Given the description of an element on the screen output the (x, y) to click on. 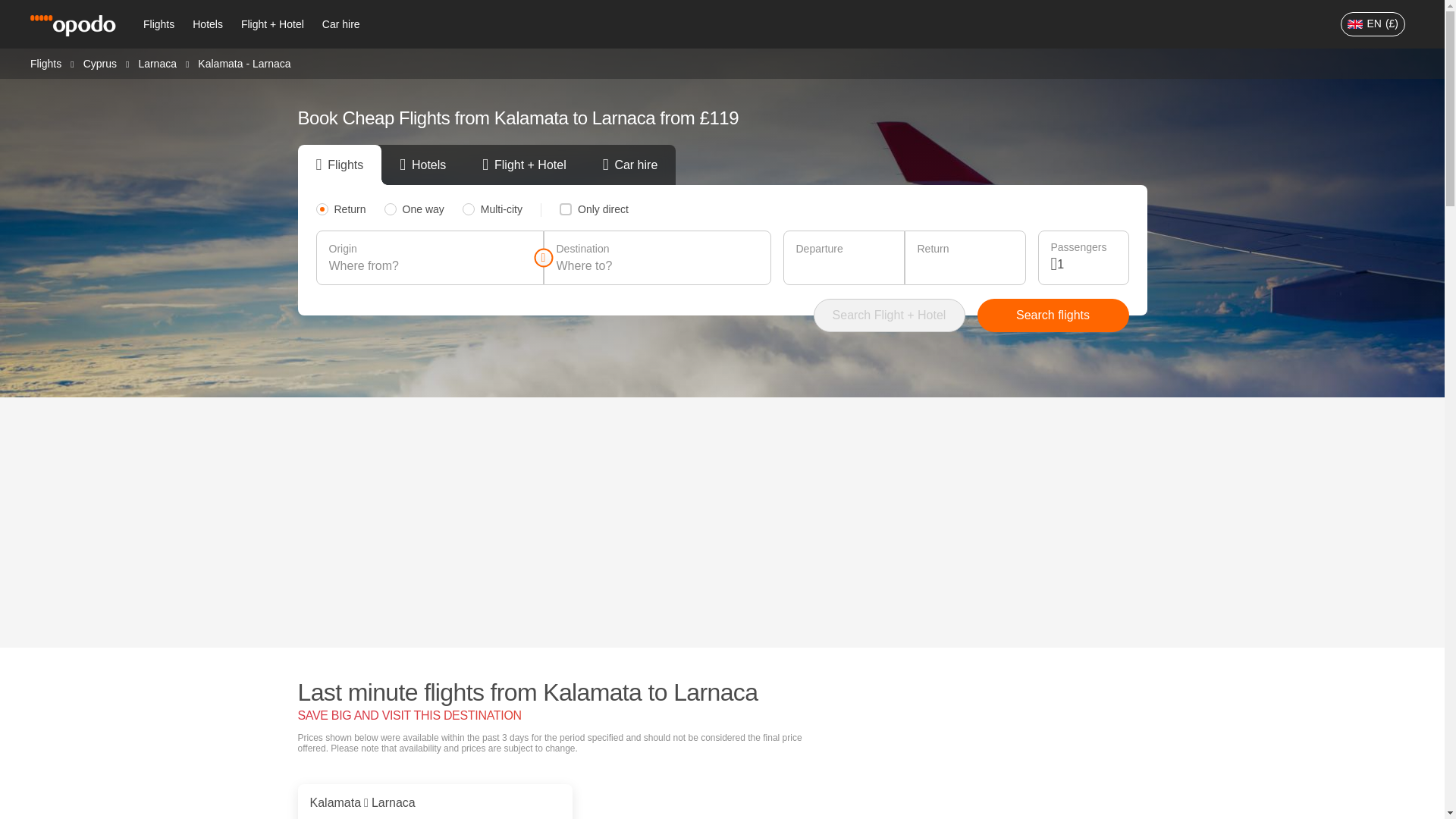
Flights (158, 24)
Cyprus (99, 62)
Car hire (341, 24)
Larnaca (157, 62)
Hotels (207, 24)
Search flights (1052, 315)
Kalamata - Larnaca (243, 63)
Flights (45, 62)
1 (1086, 263)
